Given the description of an element on the screen output the (x, y) to click on. 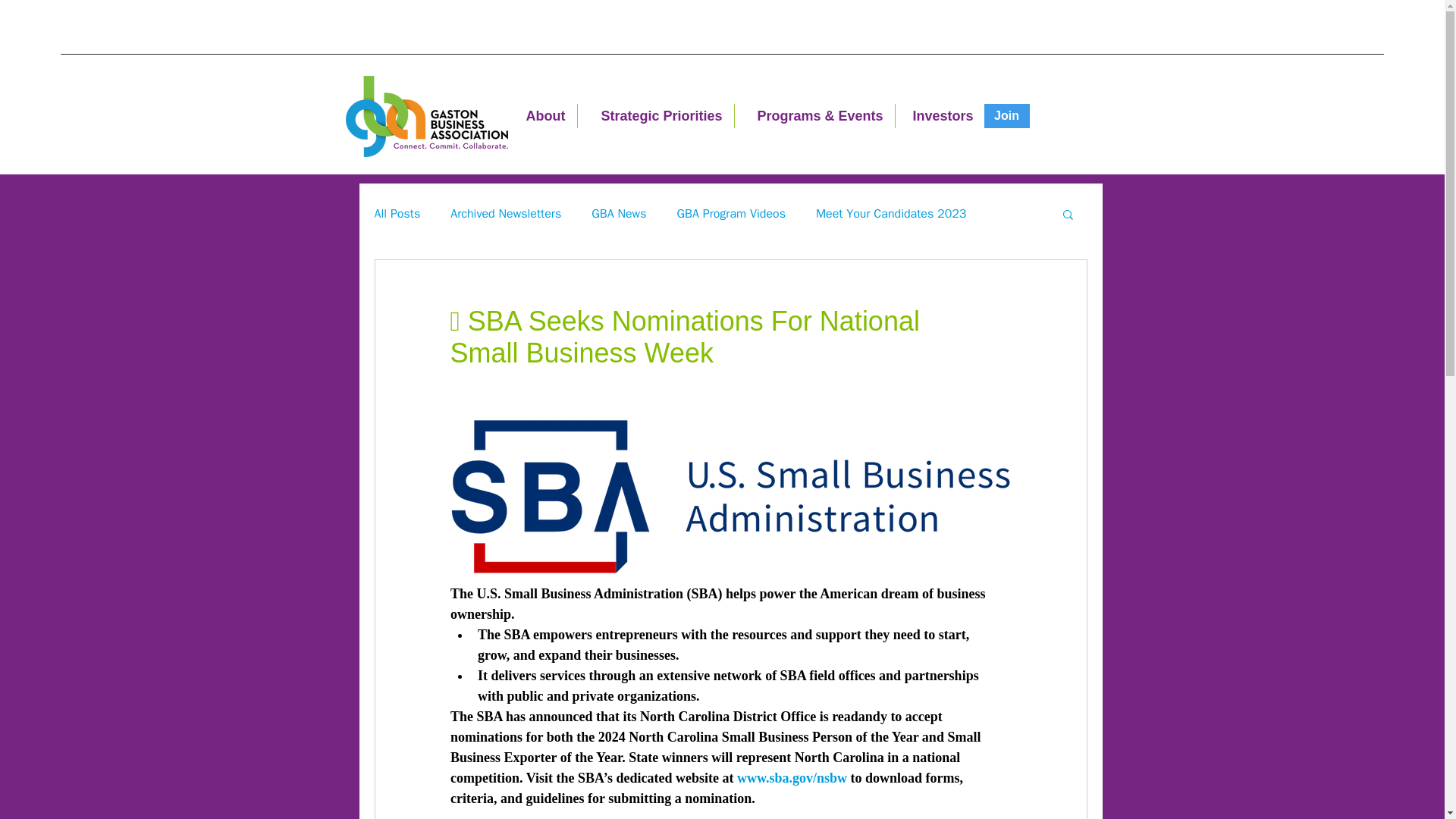
GBA News (618, 213)
Strategic Priorities (655, 115)
Investors (939, 115)
Archived Newsletters (504, 213)
Join (1006, 115)
Meet Your Candidates 2023 (890, 213)
All Posts (397, 213)
GBA Program Videos (731, 213)
About (542, 115)
